Given the description of an element on the screen output the (x, y) to click on. 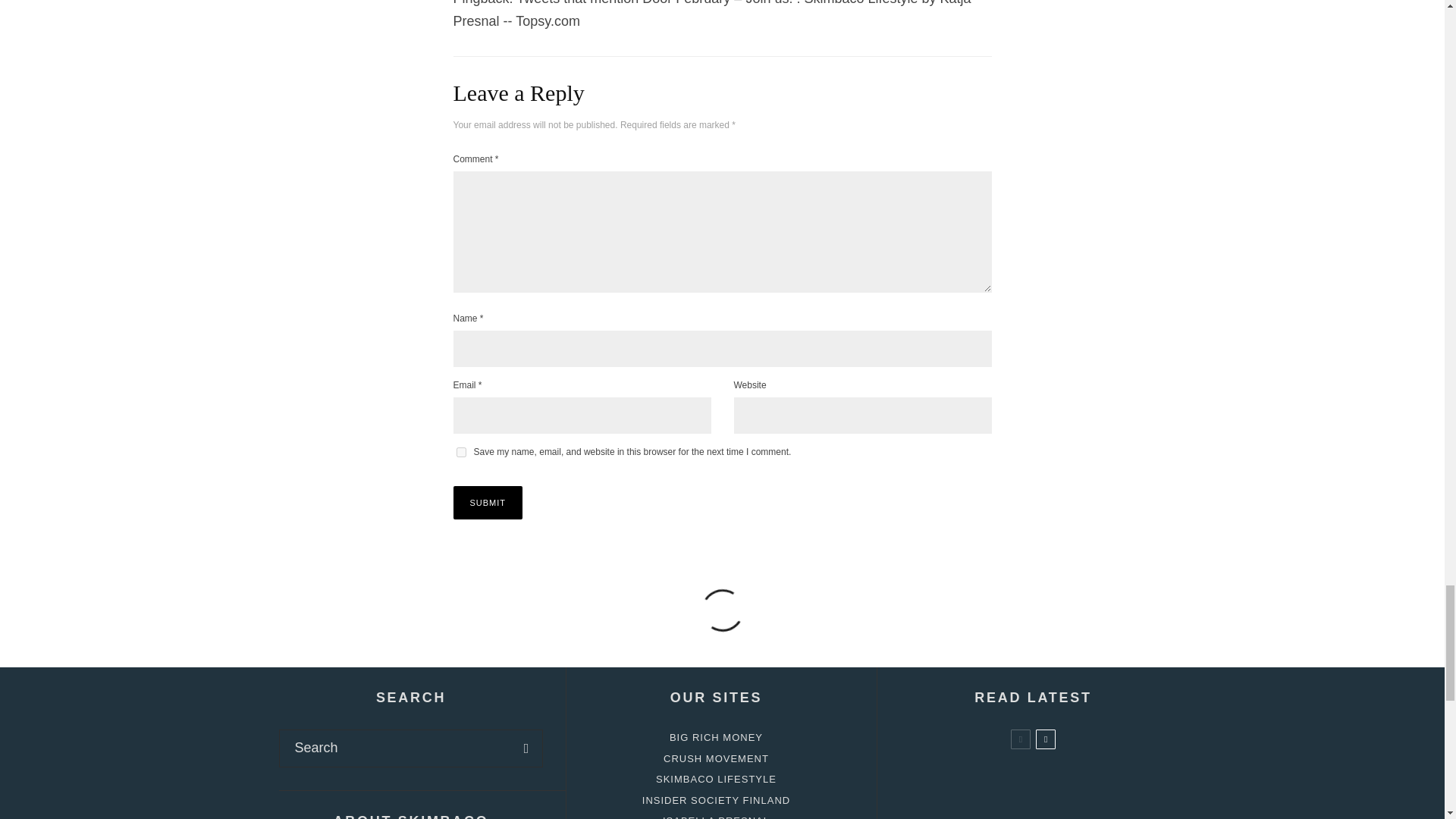
Submit (487, 502)
yes (461, 452)
